Given the description of an element on the screen output the (x, y) to click on. 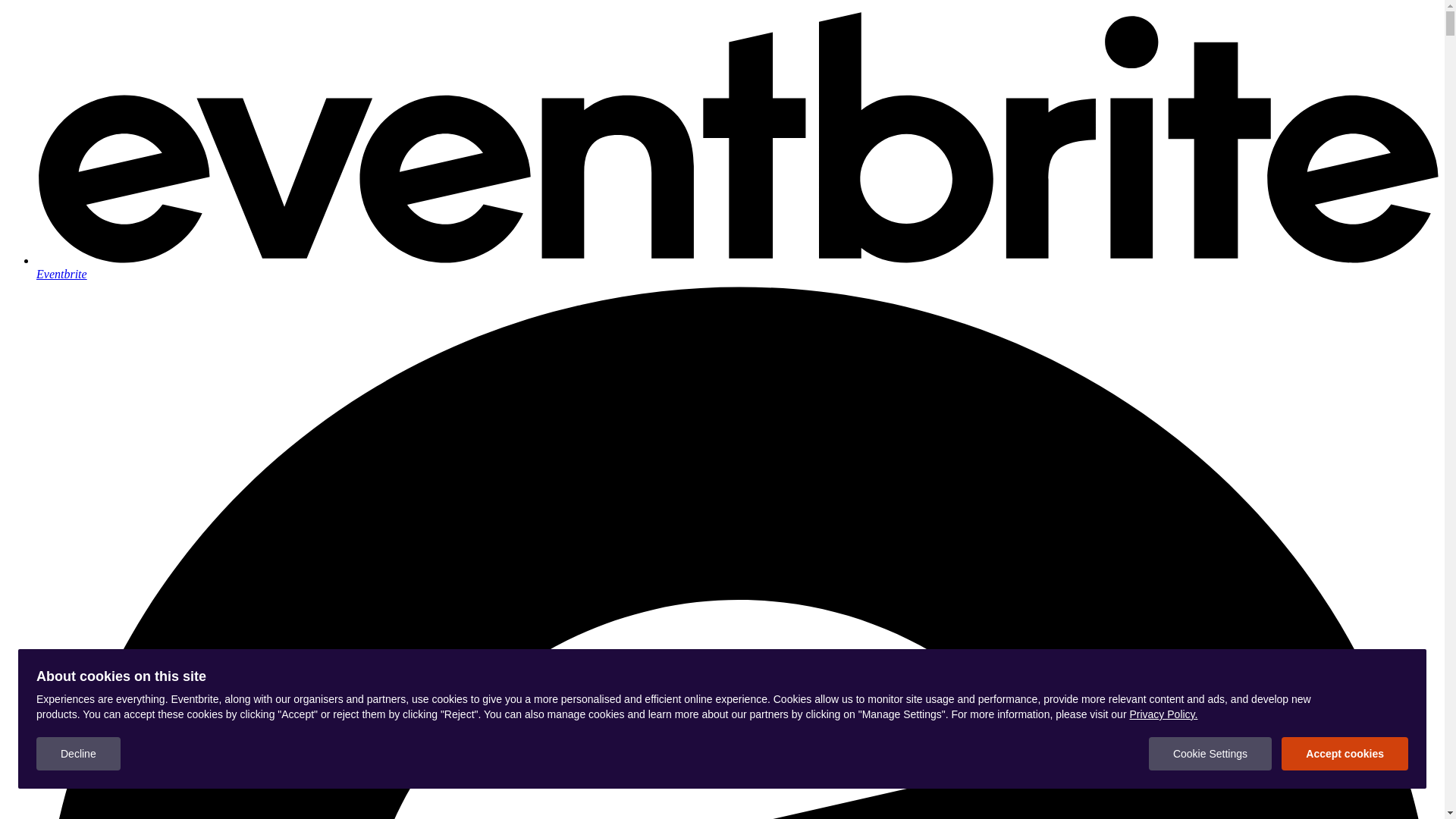
Decline Element type: text (78, 753)
Cookie Settings Element type: text (1209, 753)
Accept cookies Element type: text (1344, 753)
Privacy Policy. Element type: text (1163, 714)
Eventbrite Element type: text (737, 267)
